Given the description of an element on the screen output the (x, y) to click on. 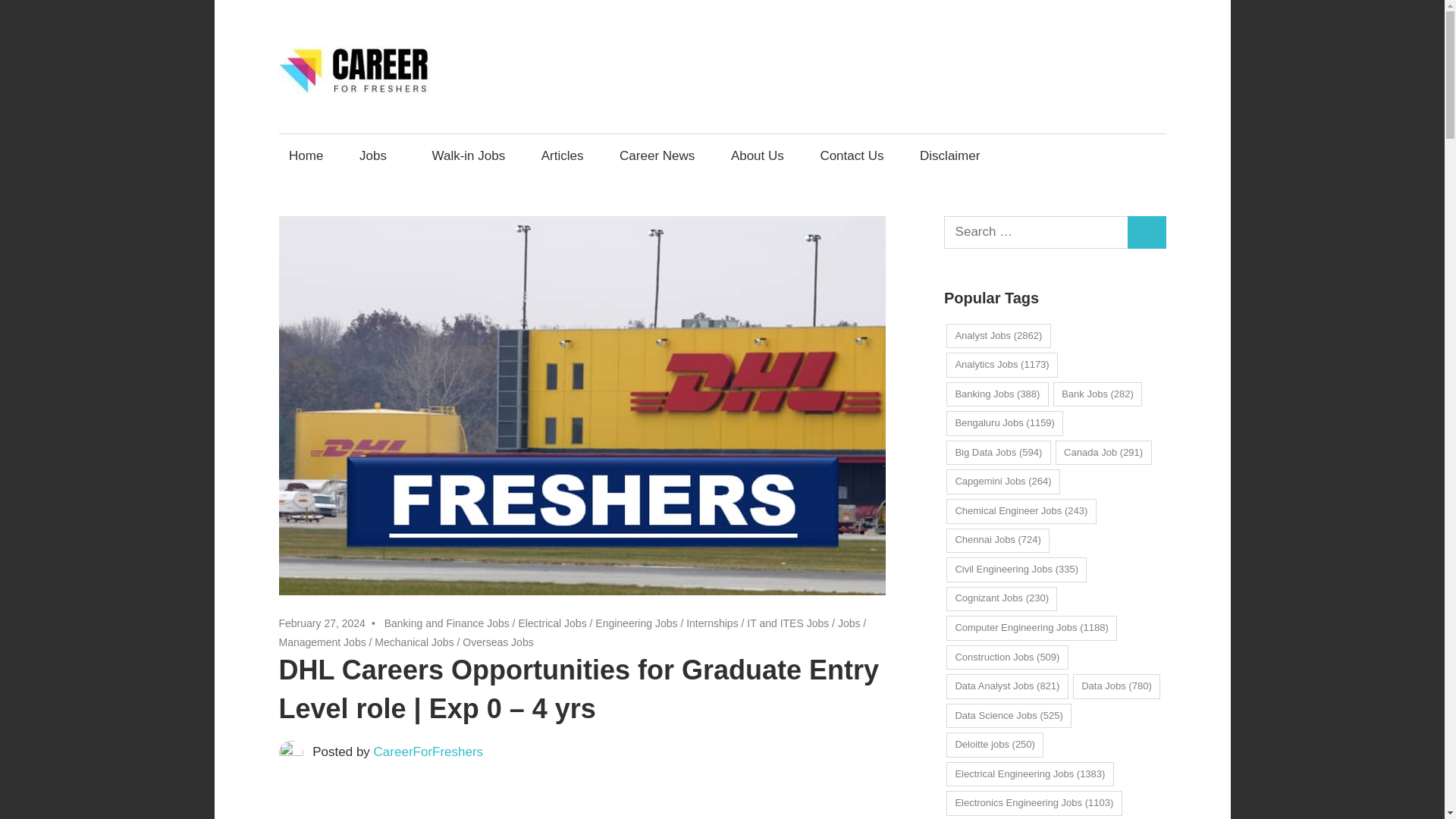
Disclaimer (949, 155)
CareerForFreshers (428, 751)
Articles (562, 155)
Contact Us (851, 155)
Internships (711, 623)
Management Jobs (322, 642)
Career News (657, 155)
Electrical Jobs (552, 623)
View all posts by CareerForFreshers (428, 751)
Home (306, 155)
